Given the description of an element on the screen output the (x, y) to click on. 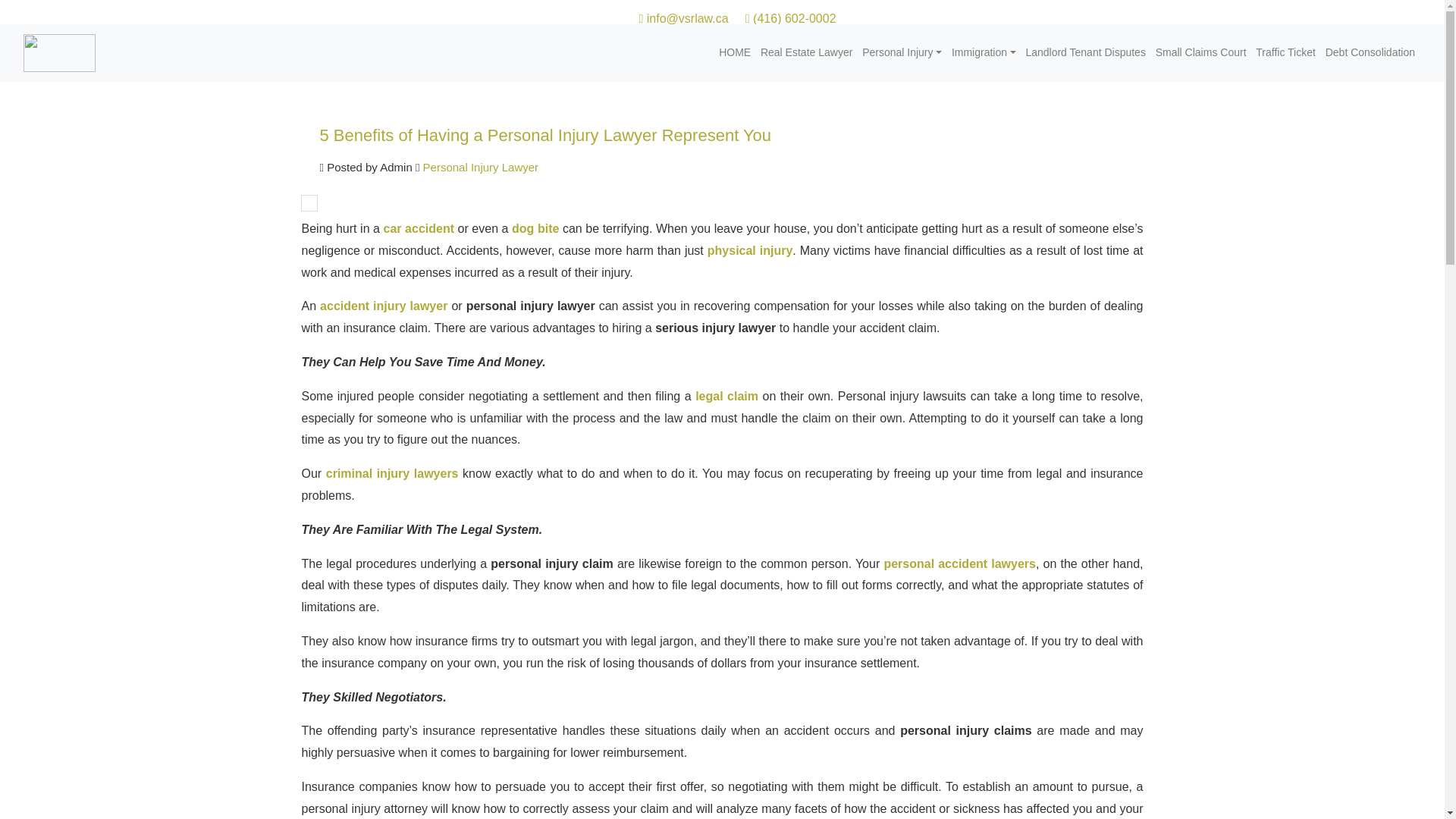
car accident (419, 228)
Traffic Ticket (1287, 51)
Landlord Tenant Disputes (1086, 51)
Real Estate Lawyer (808, 51)
Debt Consolidation (1371, 51)
legal claim (726, 395)
Small Claims Court (1201, 51)
Personal Injury Lawyer (478, 166)
HOME (735, 51)
Immigration (984, 51)
physical injury (750, 250)
personal accident lawyers (959, 563)
accident injury lawyer (383, 305)
dog bite (535, 228)
Personal Injury (903, 51)
